Given the description of an element on the screen output the (x, y) to click on. 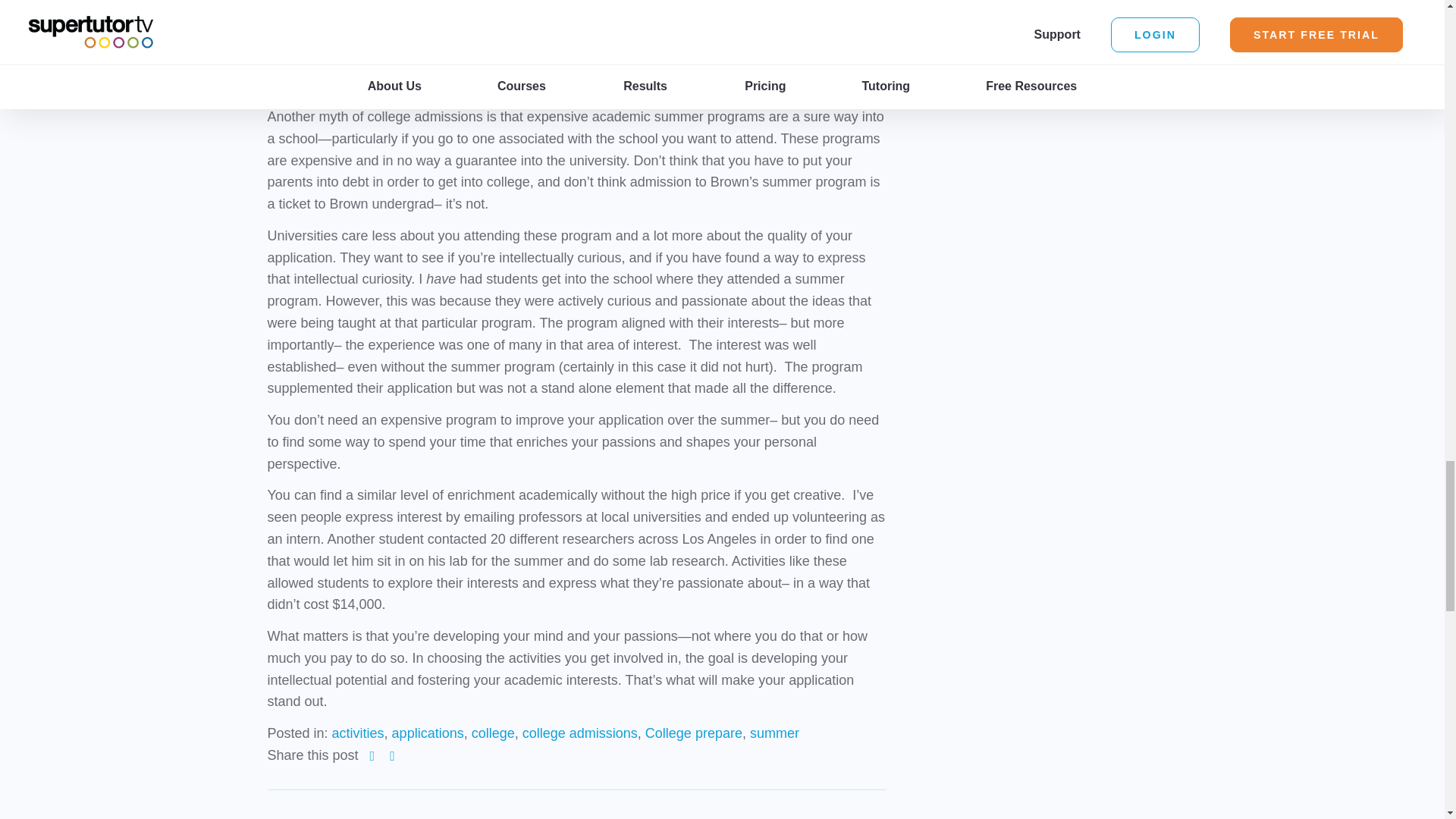
College prepare (693, 733)
college admissions (579, 733)
college (493, 733)
summer (774, 733)
activities (357, 733)
applications (427, 733)
